Given the description of an element on the screen output the (x, y) to click on. 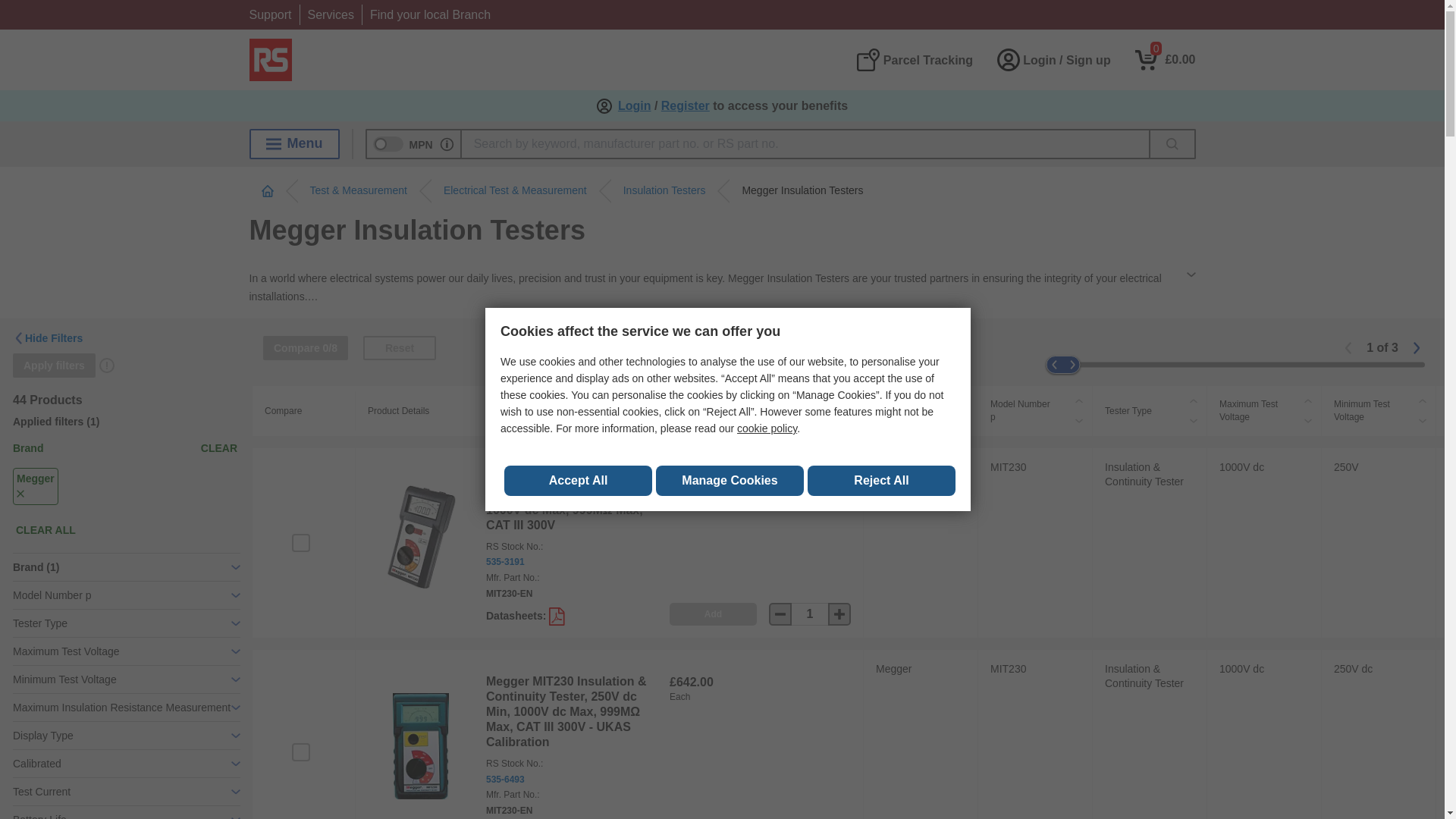
1 (810, 613)
Sort descending (1307, 420)
Support (269, 14)
Parcel Tracking (914, 59)
Sort ascending (1422, 401)
Login (633, 105)
Sort ascending (964, 401)
Sort descending (1193, 420)
on (299, 542)
Find your local Branch (429, 14)
Register (685, 105)
0 (1165, 59)
Sort descending (964, 420)
Services (330, 14)
on (299, 751)
